Given the description of an element on the screen output the (x, y) to click on. 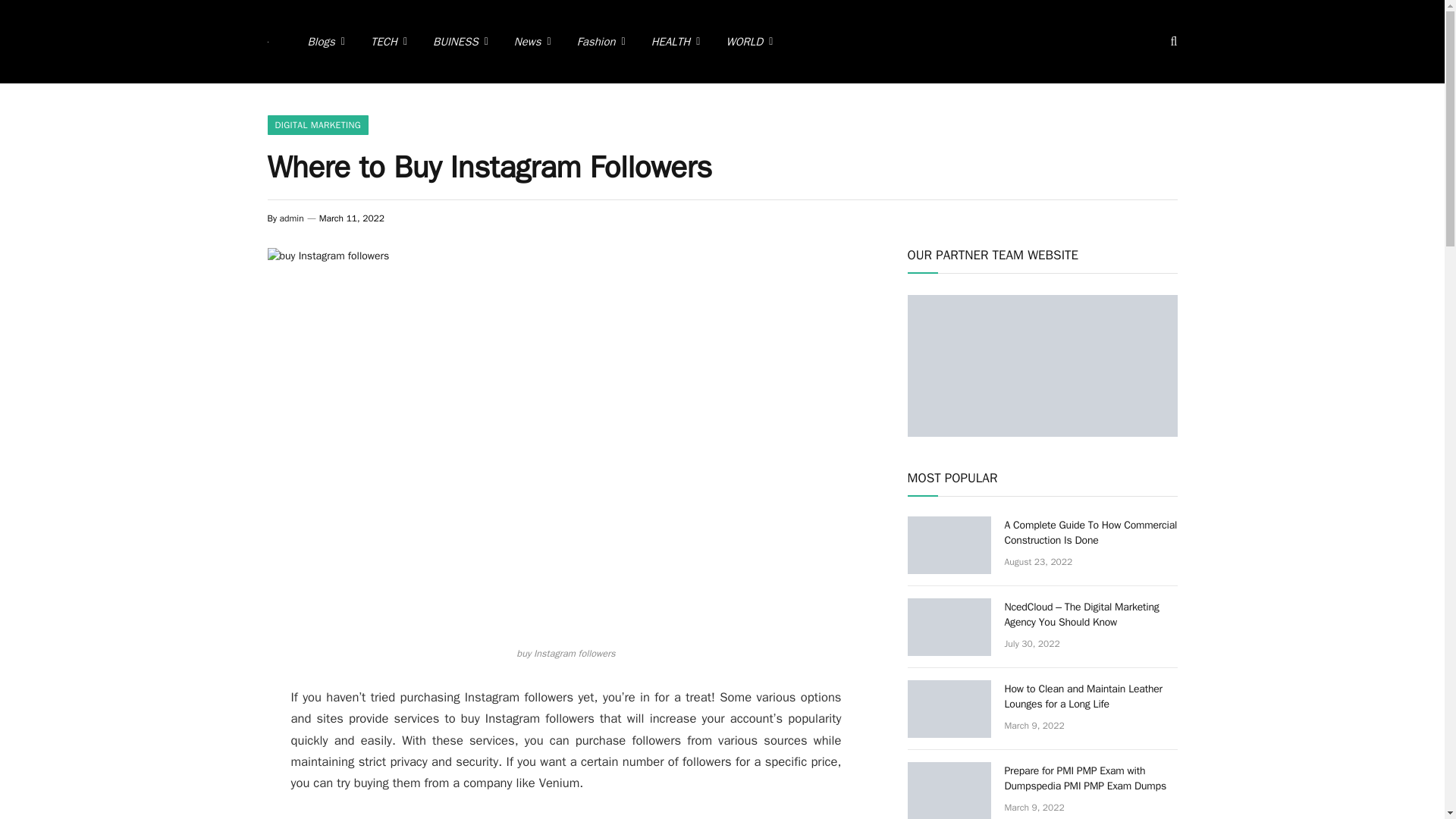
TECH (389, 41)
News (532, 41)
Blogs (325, 41)
BUINESS (460, 41)
